Given the description of an element on the screen output the (x, y) to click on. 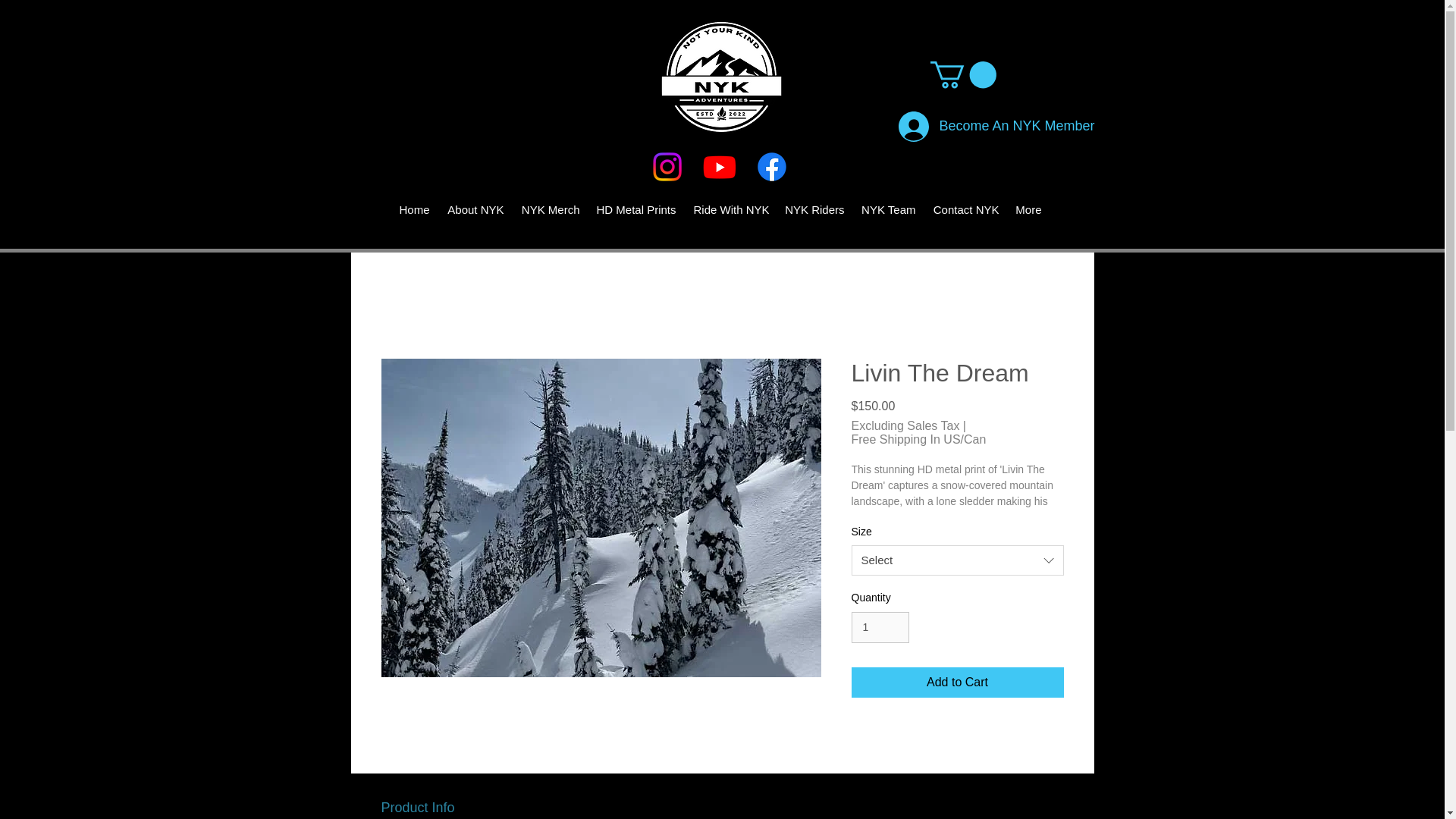
Ride With NYK (730, 209)
Contact NYK (965, 209)
1 (879, 626)
Home (414, 209)
Become An NYK Member (962, 126)
Add to Cart (956, 682)
NYK Team (887, 209)
About NYK (473, 209)
HD Metal Prints (634, 209)
NYK Riders (813, 209)
